Given the description of an element on the screen output the (x, y) to click on. 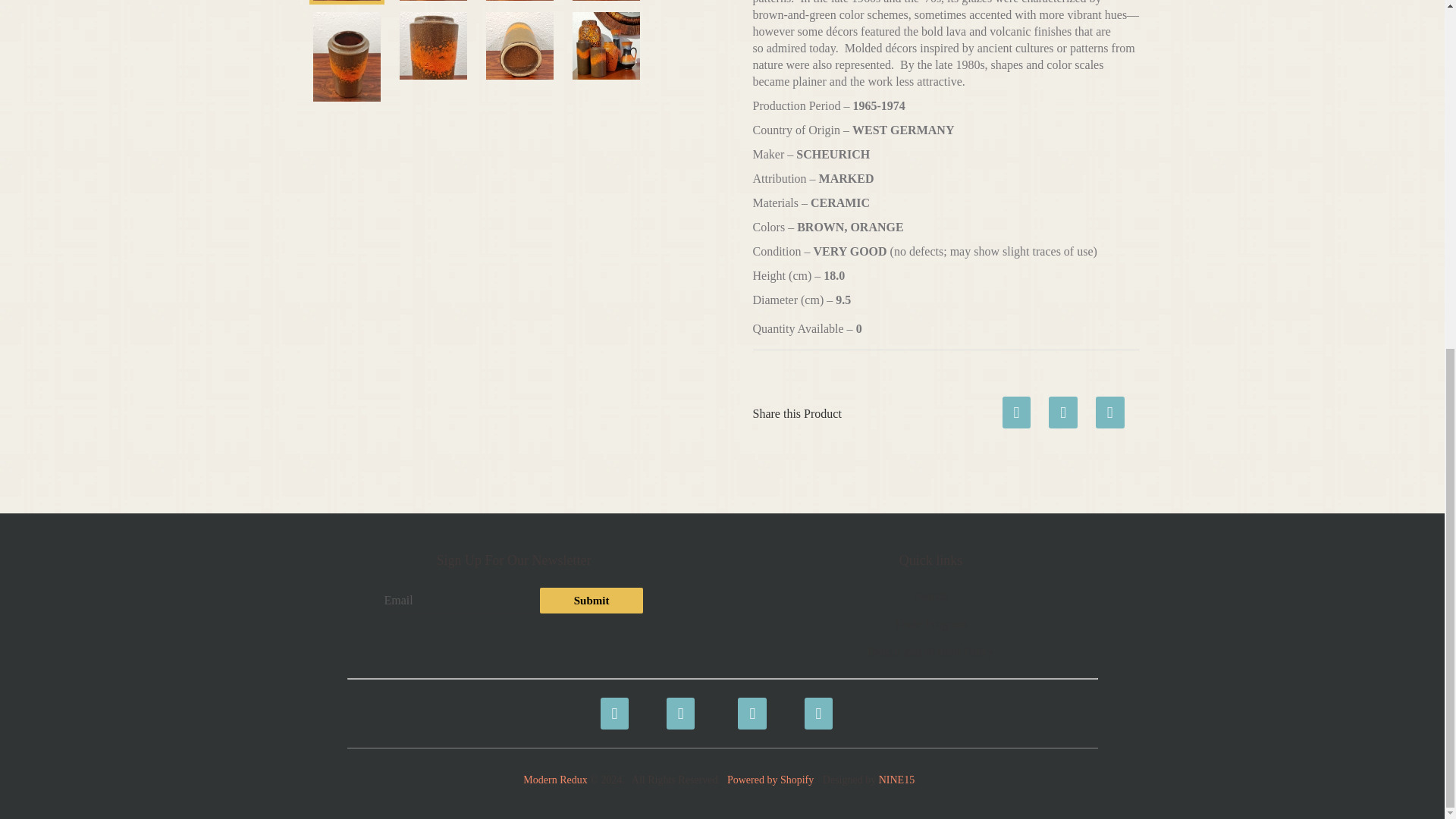
Modern Redux (554, 779)
NINE15 (896, 779)
Share on Facebook (1016, 407)
Search (930, 594)
Modern Redux on Instagram (816, 704)
Pin on Pinterest (1110, 407)
Trade Program (931, 623)
Facebook (611, 704)
Twitter (677, 704)
Modern Redux on Facebook (611, 704)
